Given the description of an element on the screen output the (x, y) to click on. 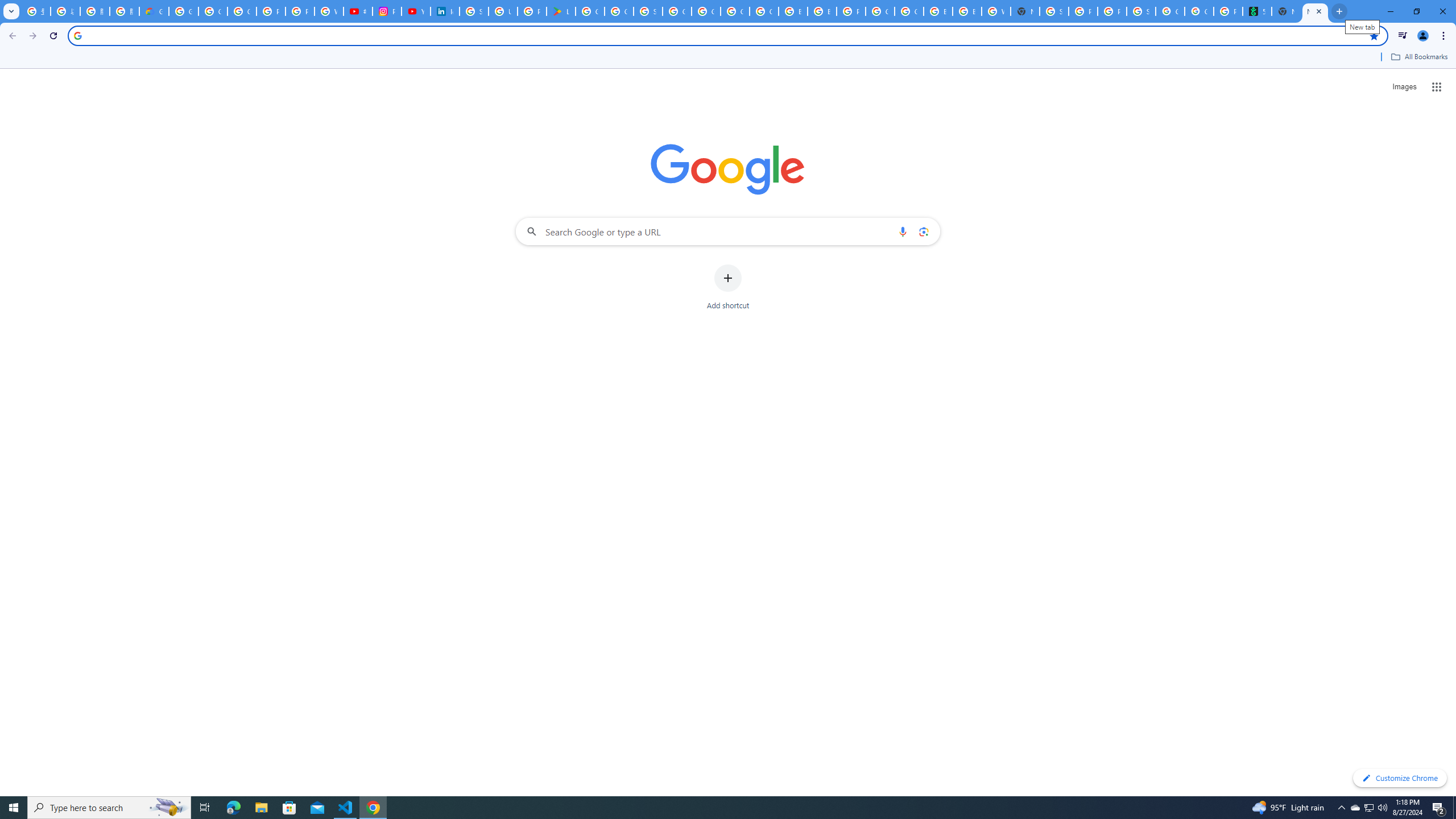
Sign in - Google Accounts (1054, 11)
Search Google or type a URL (727, 230)
Last Shelter: Survival - Apps on Google Play (560, 11)
Sign in - Google Accounts (473, 11)
